Given the description of an element on the screen output the (x, y) to click on. 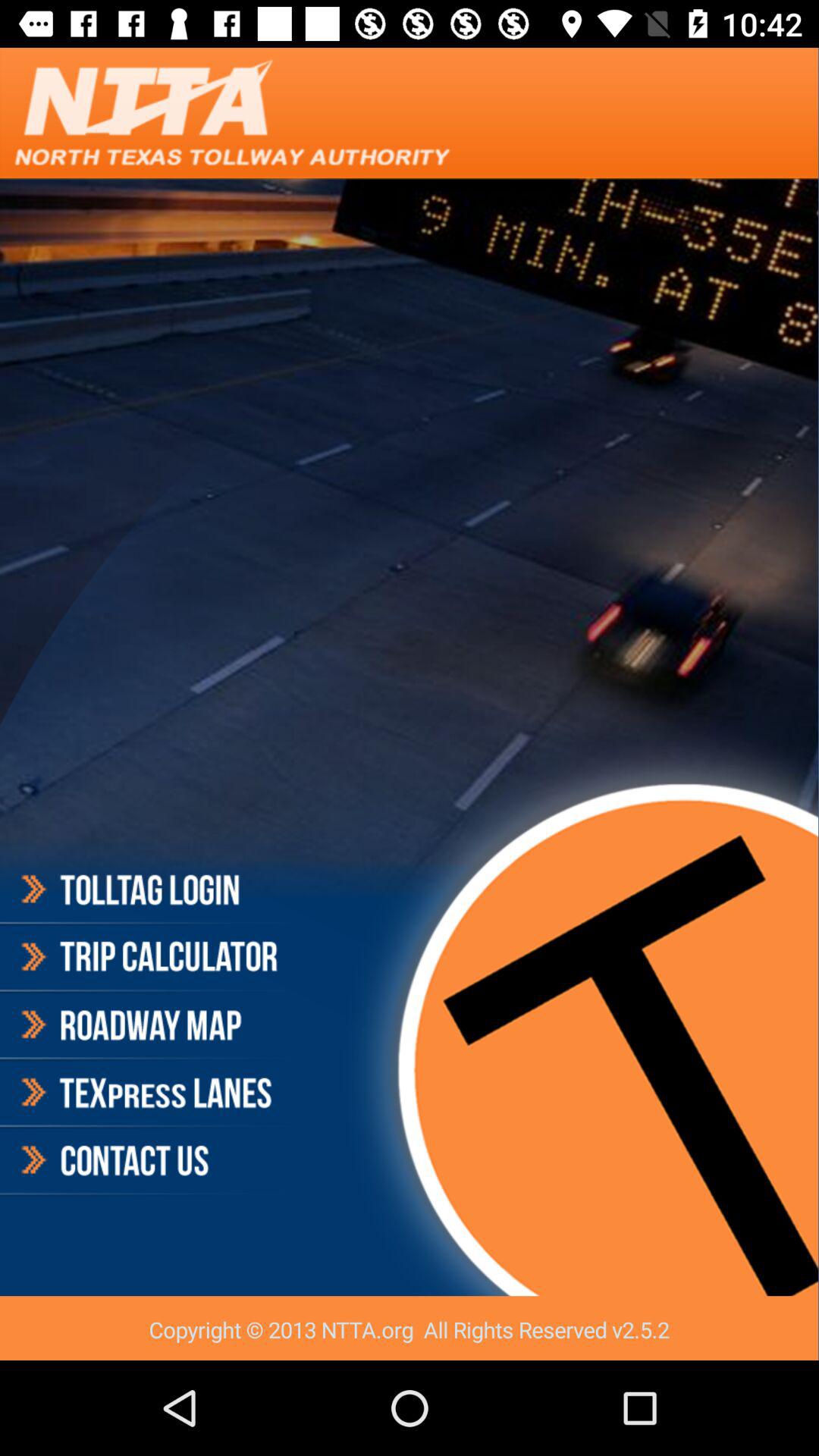
menu (147, 1025)
